Given the description of an element on the screen output the (x, y) to click on. 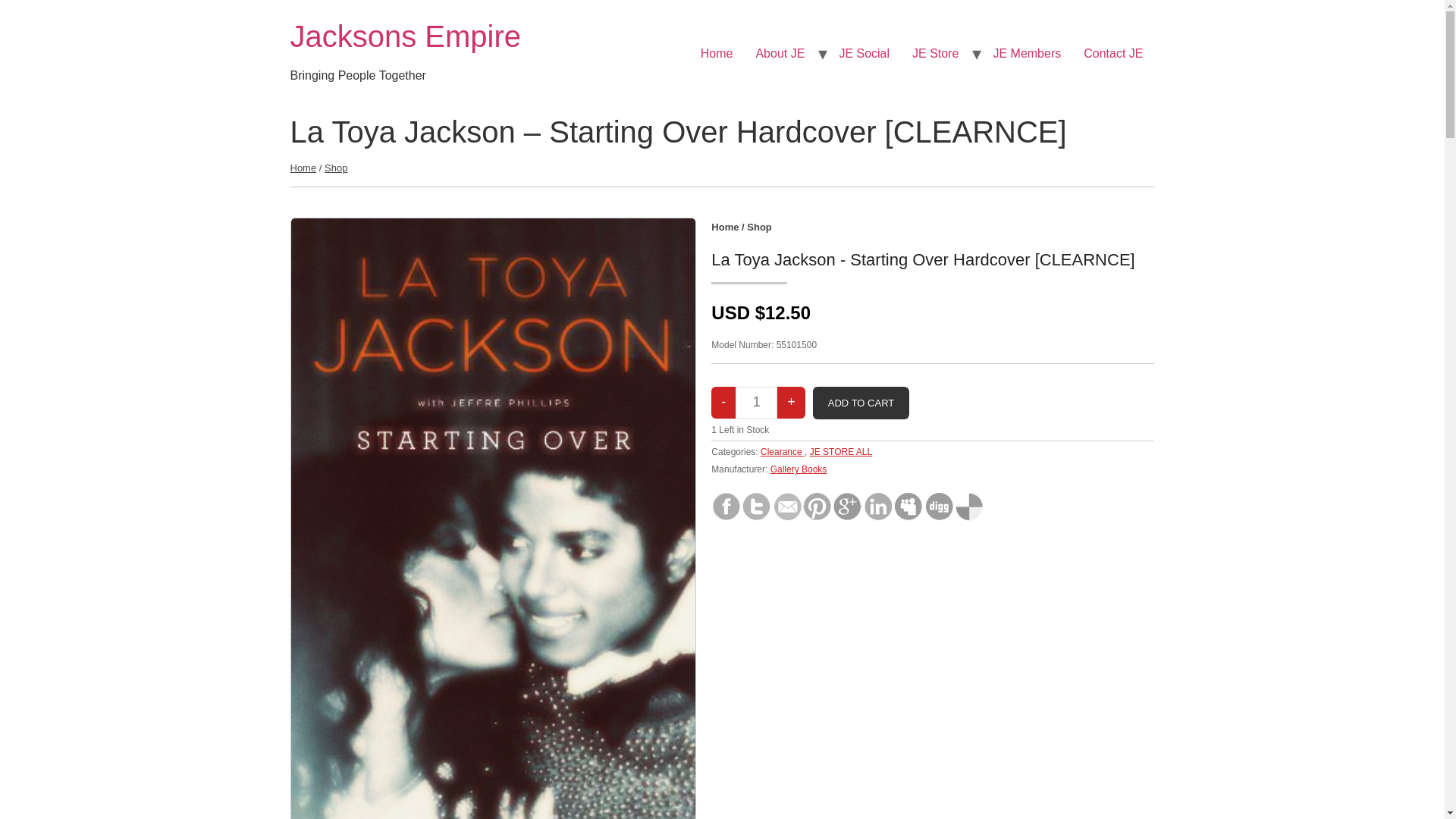
Contact JE (1112, 53)
Shop (758, 226)
ADD TO CART (860, 403)
JE STORE ALL (840, 451)
Home (724, 226)
Shop (335, 167)
Clearance (782, 451)
JE Store (935, 53)
Home (405, 36)
About JE (779, 53)
